Given the description of an element on the screen output the (x, y) to click on. 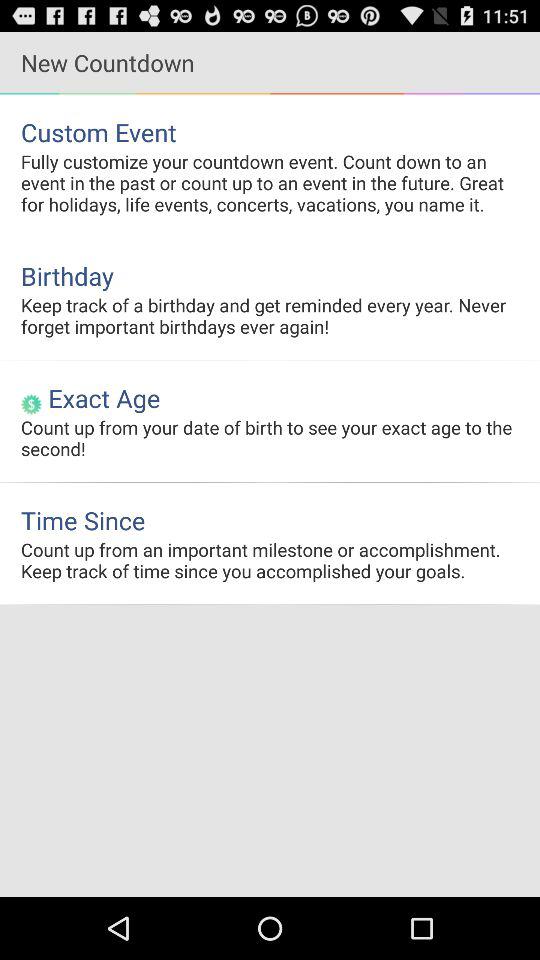
tap icon below the custom event item (270, 182)
